Given the description of an element on the screen output the (x, y) to click on. 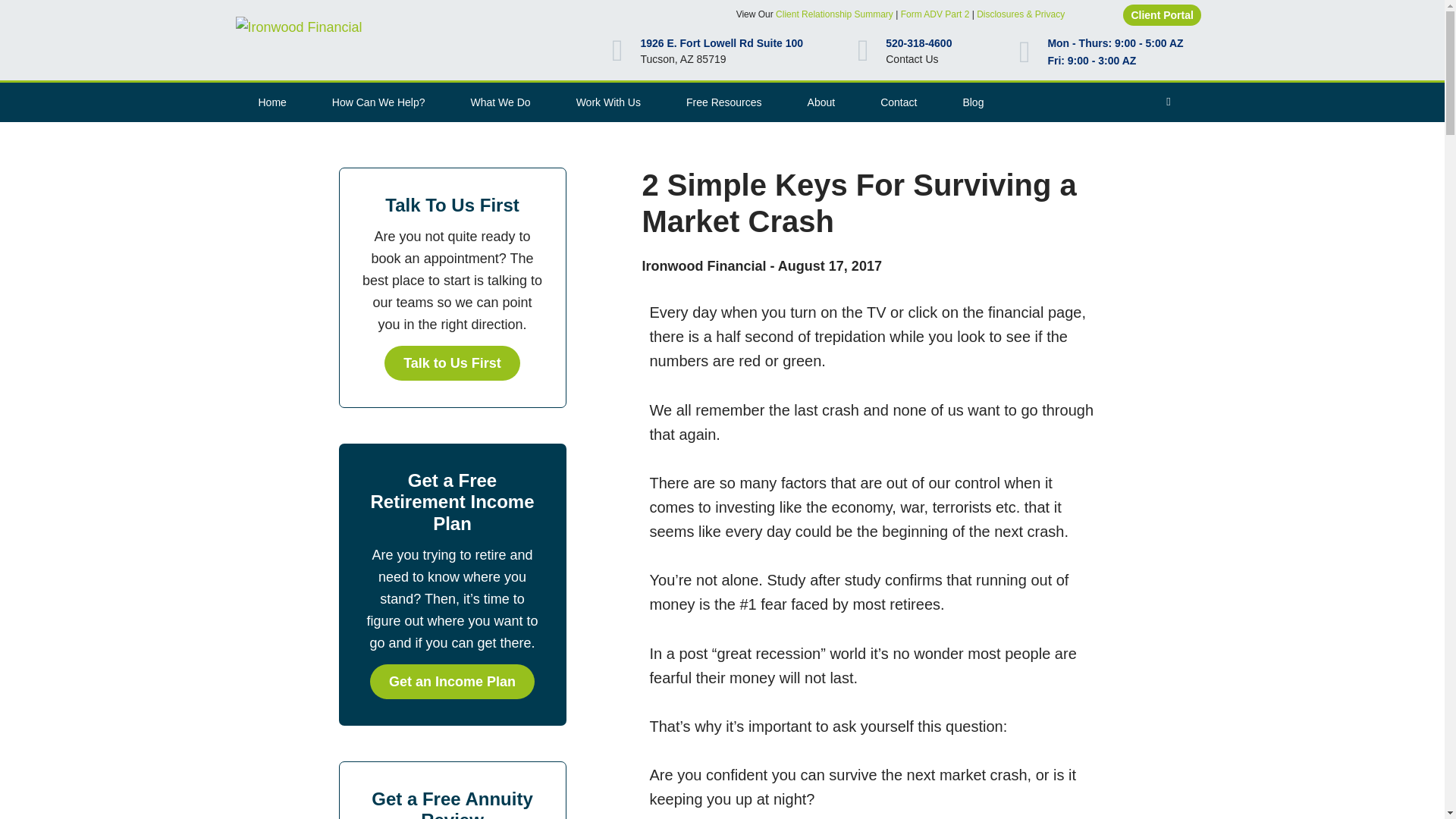
Form ADV Part 2 (935, 14)
How Can We Help? (378, 102)
About (821, 102)
Free Resources (723, 102)
Client Relationship Summary (834, 14)
Blog (972, 102)
Work With Us (608, 102)
Contact (898, 102)
520-318-4600 (918, 42)
Home (271, 102)
